Given the description of an element on the screen output the (x, y) to click on. 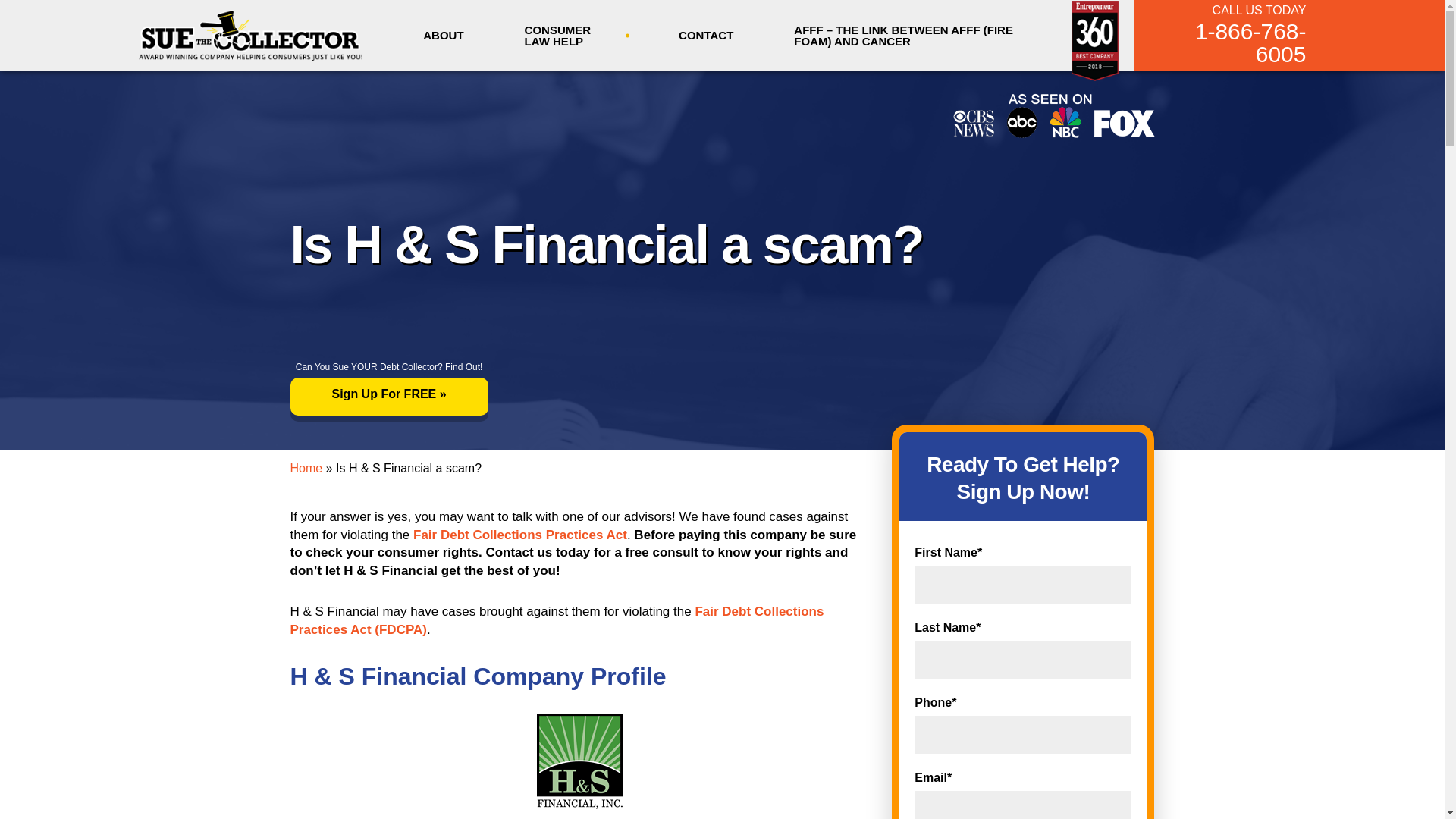
Sue The Collector (250, 34)
Fair Debt Collections Practices Act (520, 534)
ABOUT (443, 34)
CONTACT (705, 34)
CONSUMER LAW HELP (571, 38)
Home (305, 468)
Channels (1053, 115)
1-866-768-6005 (1231, 43)
1-866-768-6005 (1231, 43)
